Given the description of an element on the screen output the (x, y) to click on. 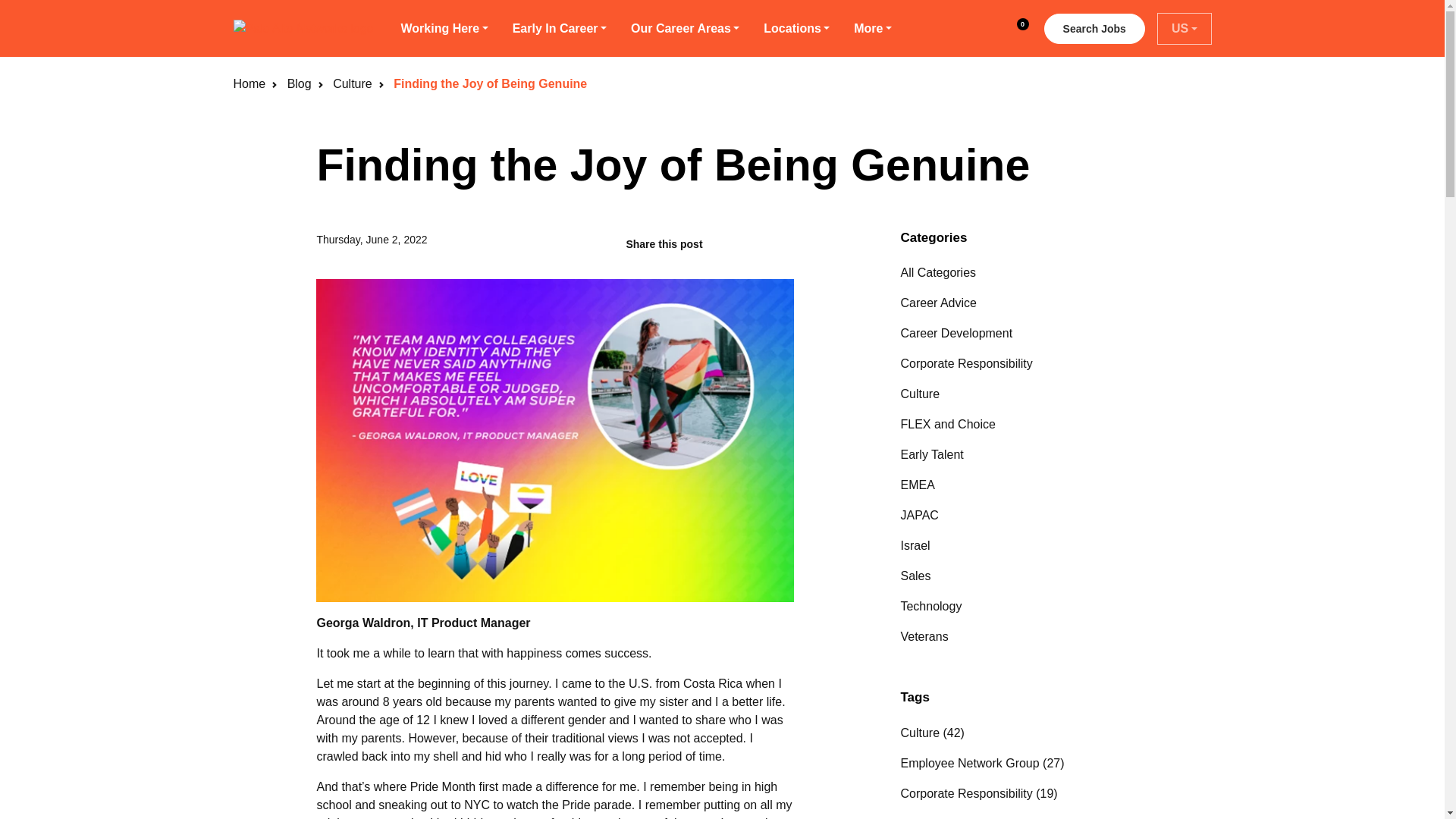
Search Jobs (1093, 28)
US (1184, 28)
Our Career Areas (684, 28)
Blog (298, 83)
Culture (1013, 28)
More (352, 83)
Locations (872, 28)
Early In Career (796, 28)
Home (559, 28)
